Given the description of an element on the screen output the (x, y) to click on. 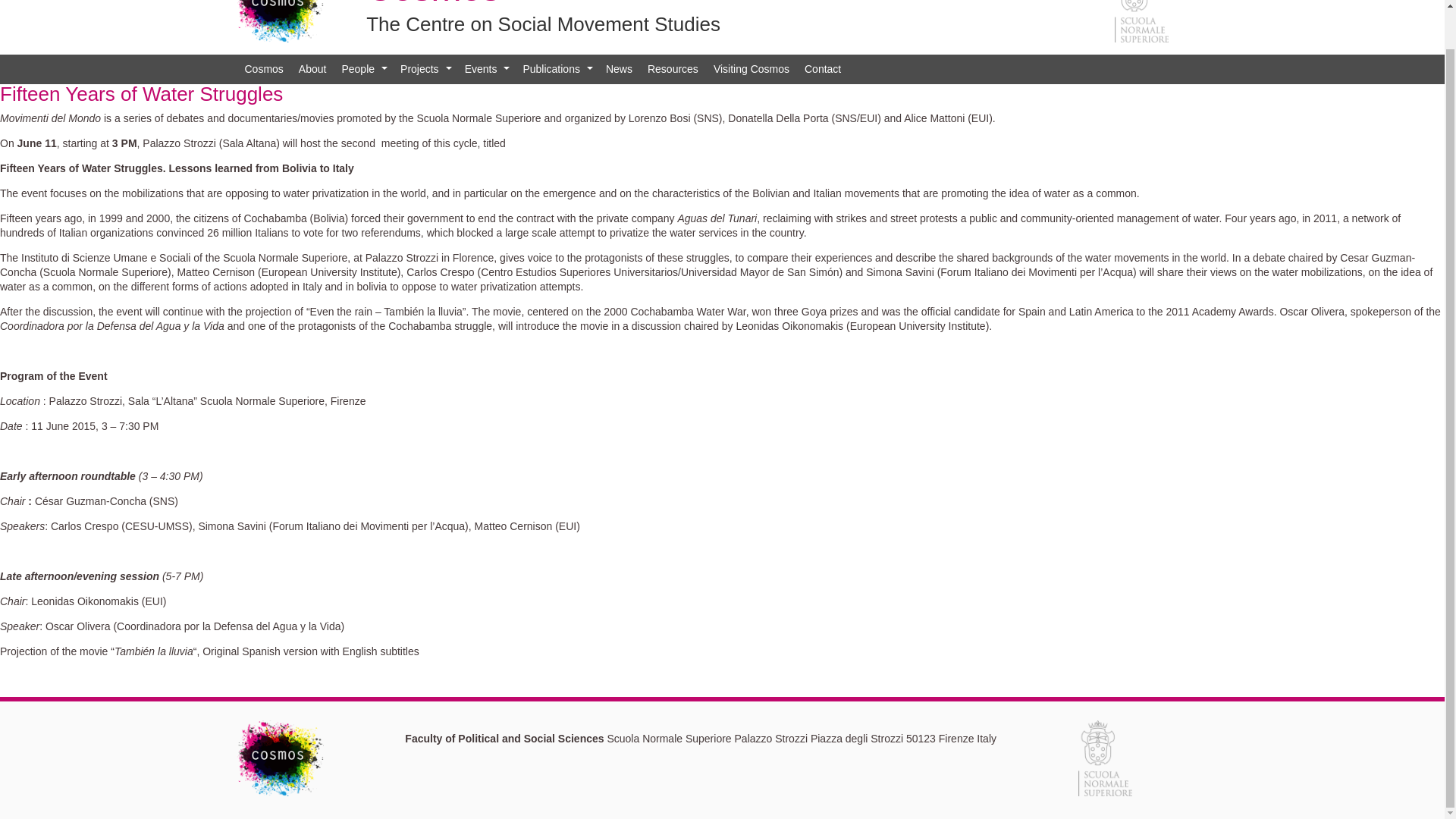
Contact (822, 69)
About (312, 69)
Resources (673, 69)
News (619, 69)
Cosmos (262, 69)
Visiting Cosmos (751, 69)
